Given the description of an element on the screen output the (x, y) to click on. 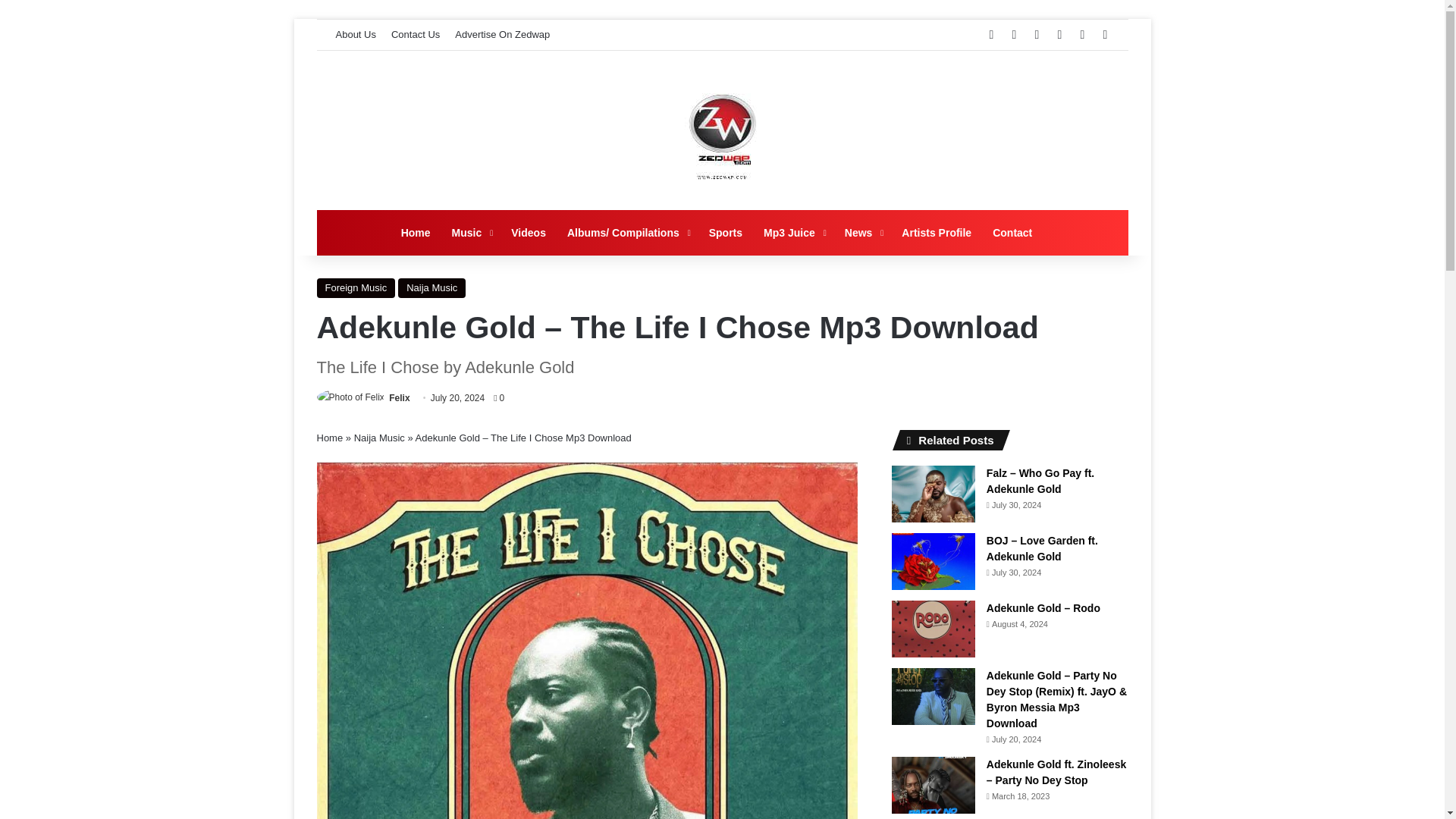
Contact (1011, 232)
Home (330, 437)
About Us (354, 34)
Felix (398, 398)
Sports (725, 232)
Videos (528, 232)
Contact Us (415, 34)
Zedwap.com (721, 130)
Felix (398, 398)
Music (470, 232)
